Given the description of an element on the screen output the (x, y) to click on. 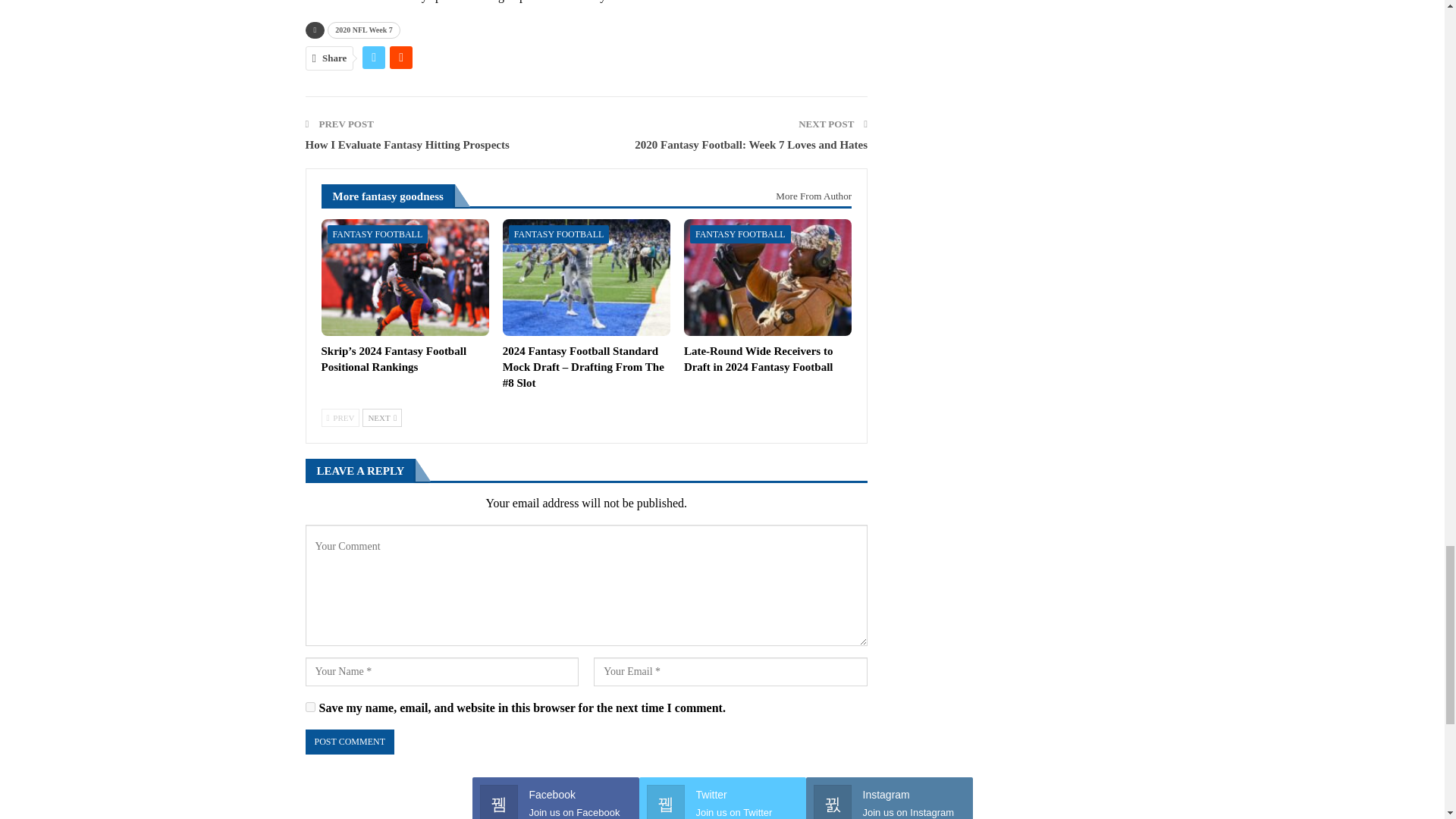
Late-Round Wide Receivers to Draft in 2024 Fantasy Football (767, 277)
Late-Round Wide Receivers to Draft in 2024 Fantasy Football (758, 358)
Post Comment (348, 741)
yes (309, 706)
